Given the description of an element on the screen output the (x, y) to click on. 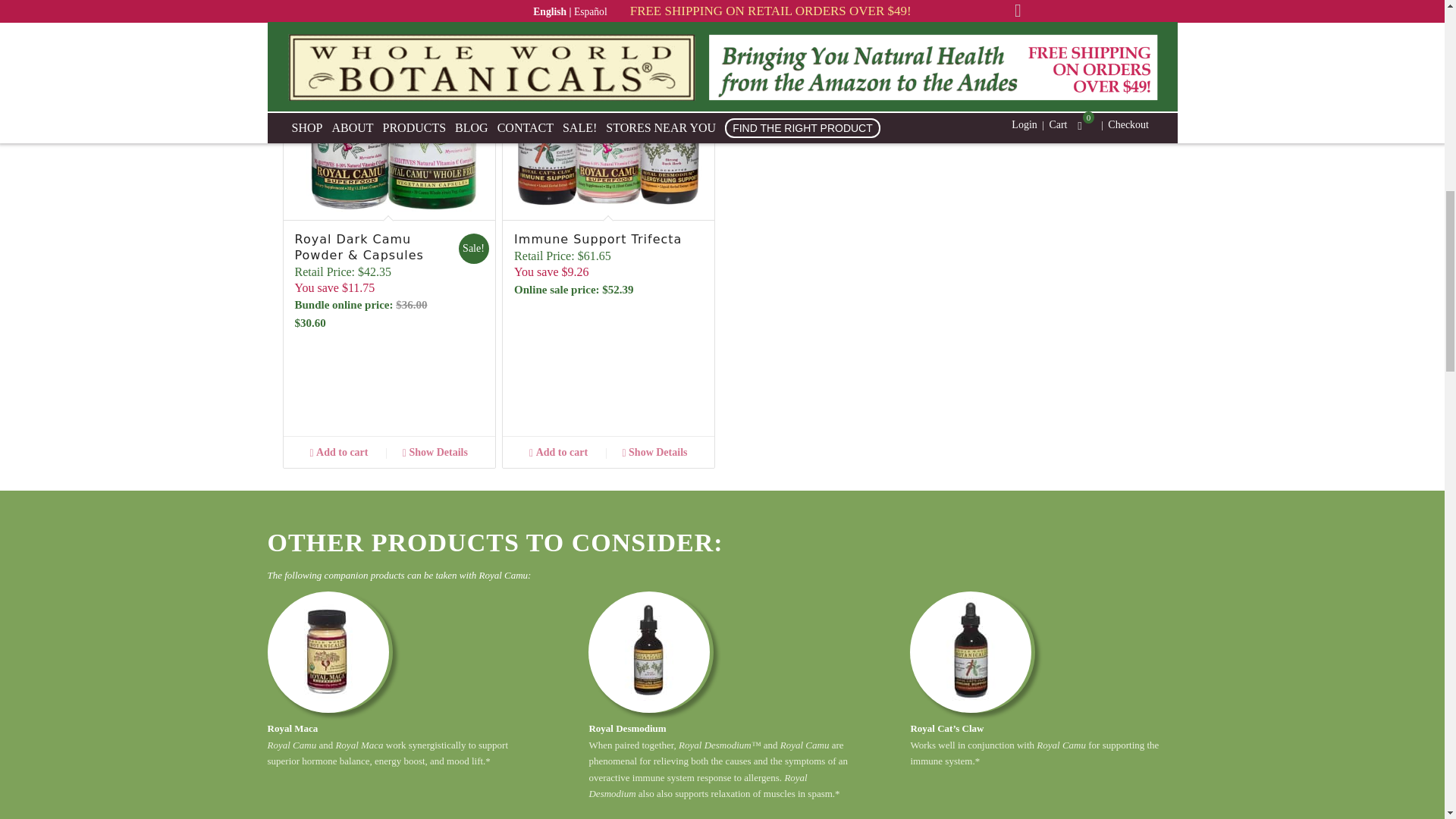
Royal Cat's Claw (970, 651)
Royal Desmodium (649, 651)
Royal Maca (327, 651)
